Given the description of an element on the screen output the (x, y) to click on. 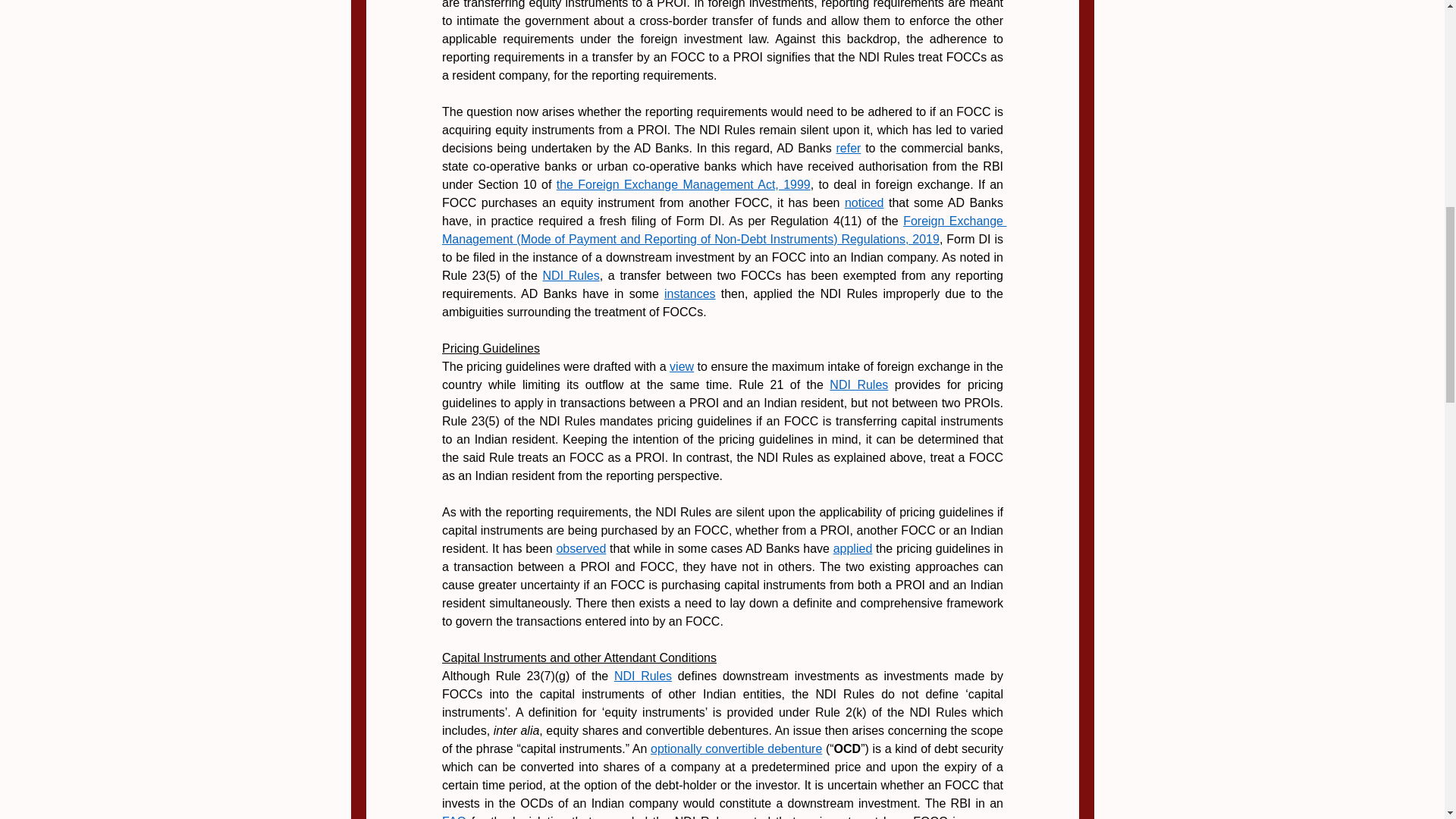
optionally convertible debenture (736, 748)
observed (580, 548)
NDI Rules (569, 275)
view (681, 366)
applied (852, 548)
NDI Rules (858, 384)
the Foreign Exchange Management Act, 1999 (682, 184)
noticed (863, 202)
instances (688, 293)
refer (847, 147)
